Given the description of an element on the screen output the (x, y) to click on. 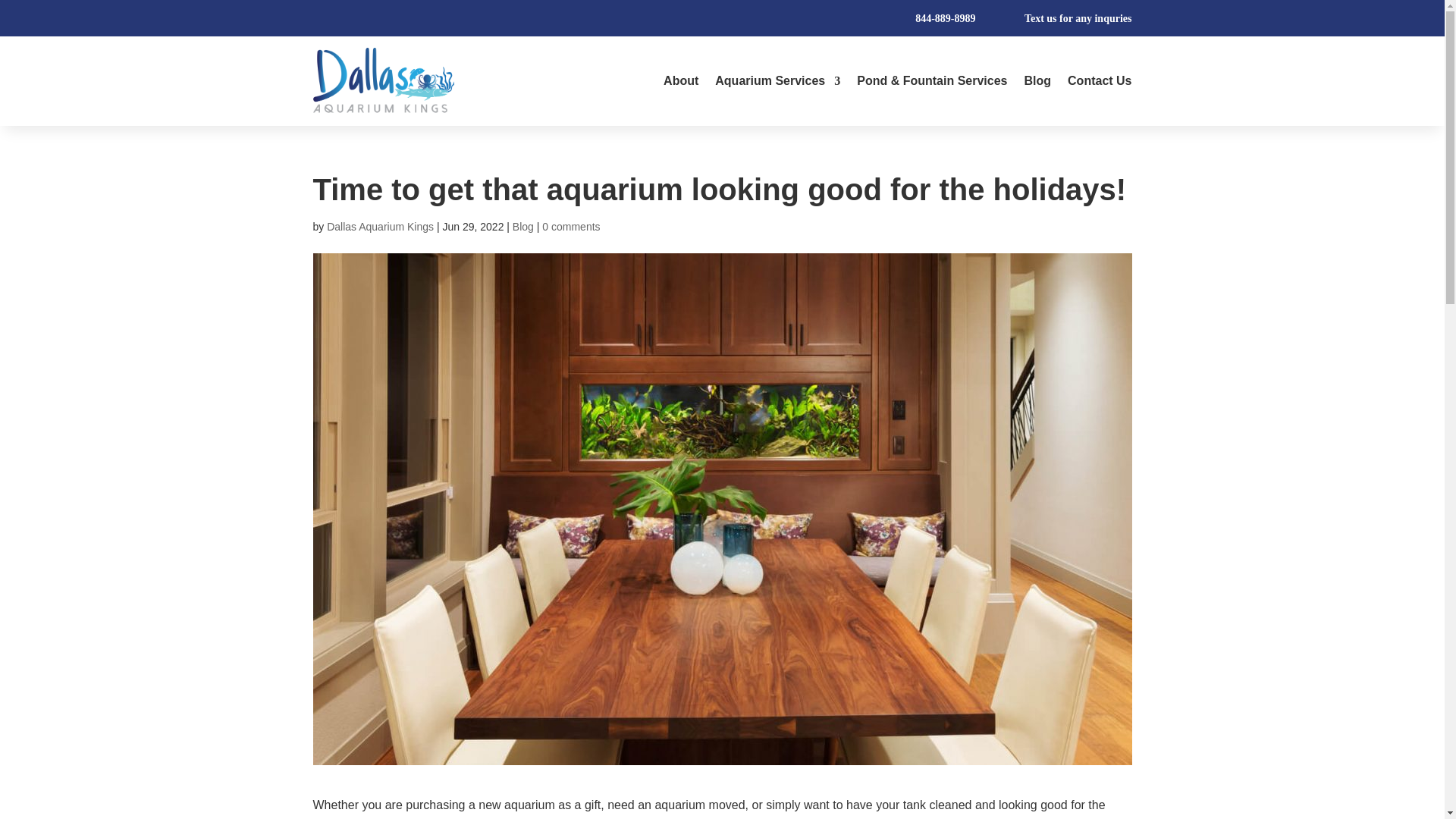
Aquarium Services (777, 80)
Contact Us (1099, 80)
844-889-8989 (965, 17)
Dallas Aquarium Kings (379, 226)
0 comments (570, 226)
Text us for any inquries (1076, 17)
Posts by Dallas Aquarium Kings (379, 226)
Blog (523, 226)
